Given the description of an element on the screen output the (x, y) to click on. 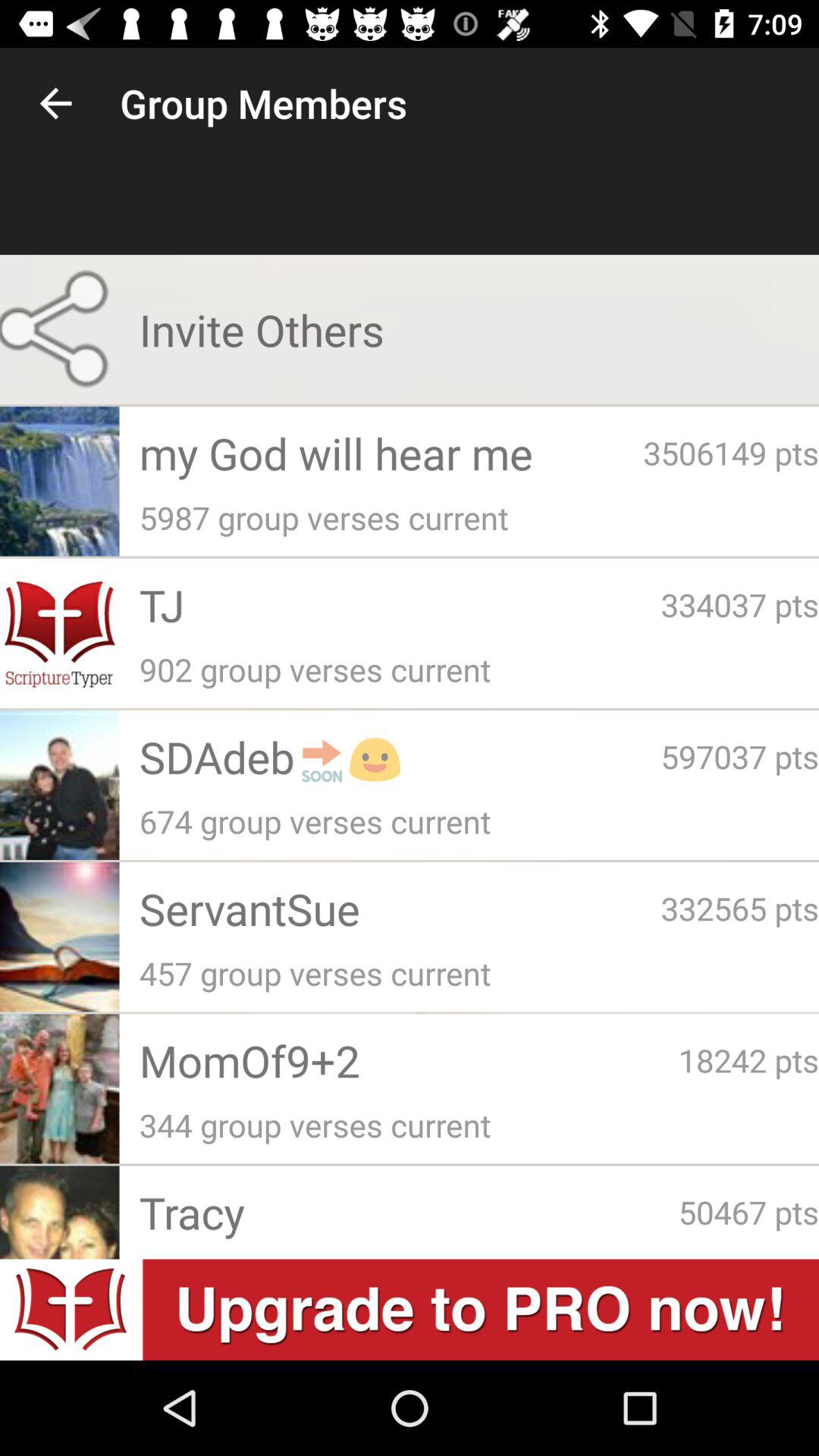
tap the icon above 674 group verses app (739, 756)
